Given the description of an element on the screen output the (x, y) to click on. 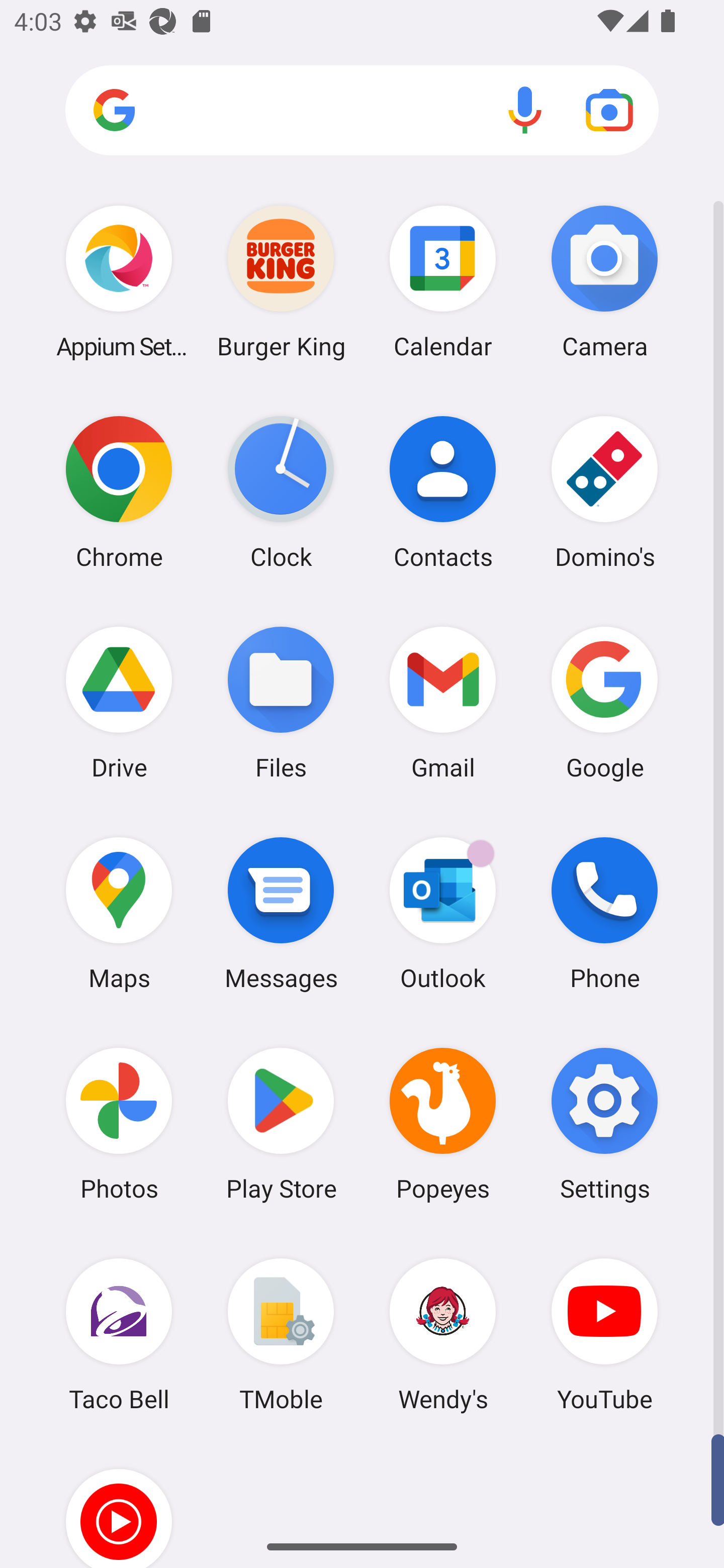
Search apps, web and more (361, 110)
Voice search (524, 109)
Google Lens (608, 109)
Appium Settings (118, 281)
Burger King (280, 281)
Calendar (443, 281)
Camera (604, 281)
Chrome (118, 492)
Clock (280, 492)
Contacts (443, 492)
Domino's (604, 492)
Drive (118, 702)
Files (280, 702)
Gmail (443, 702)
Google (604, 702)
Maps (118, 913)
Messages (280, 913)
Outlook Outlook has 1 notification (443, 913)
Phone (604, 913)
Photos (118, 1124)
Play Store (280, 1124)
Popeyes (443, 1124)
Settings (604, 1124)
Taco Bell (118, 1334)
TMoble (280, 1334)
Wendy's (443, 1334)
YouTube (604, 1334)
YT Music (118, 1503)
